Given the description of an element on the screen output the (x, y) to click on. 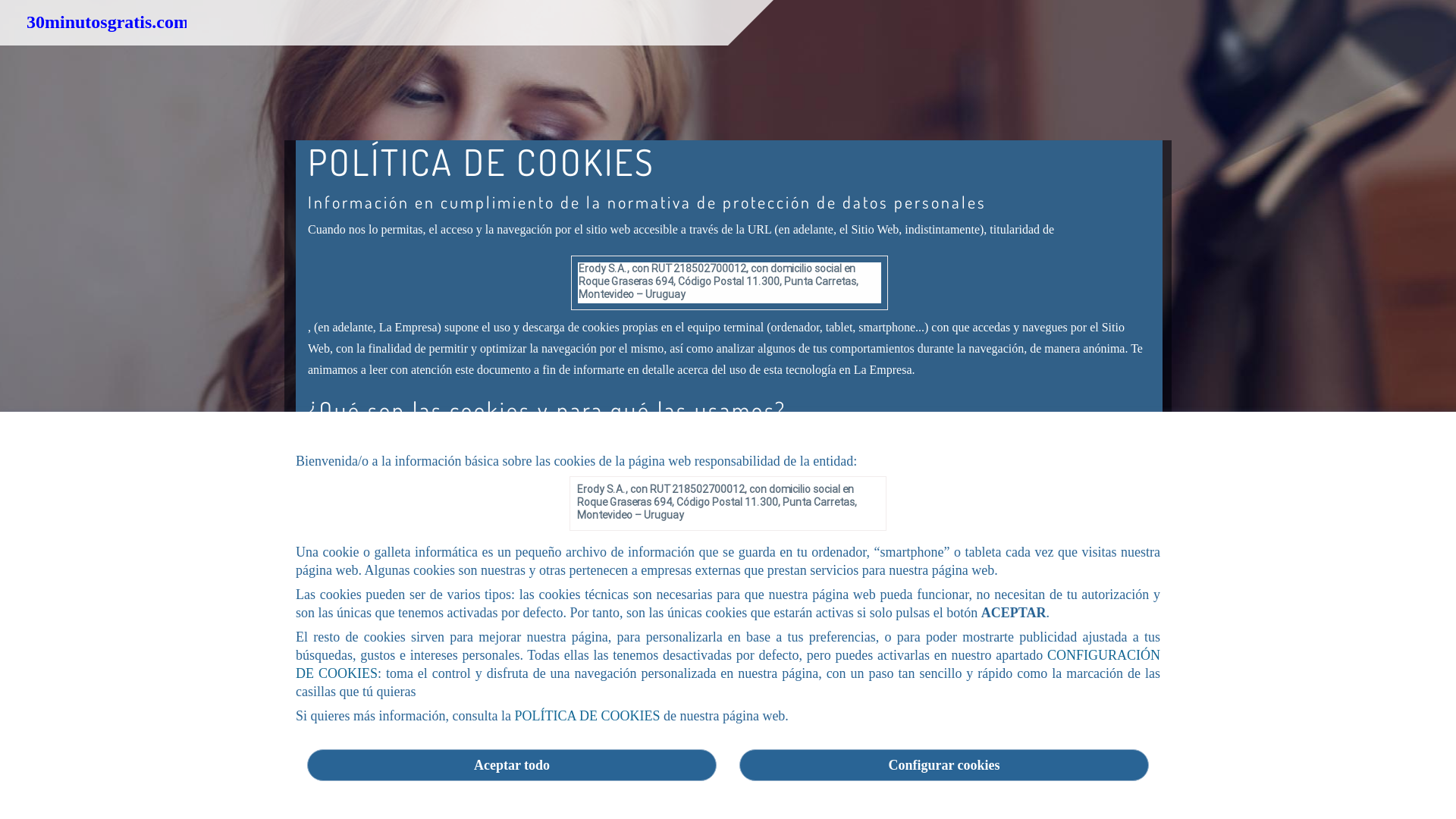
30minutosgratis.com Element type: text (449, 797)
Aceptar todo Element type: text (511, 765)
30minutosgratis.com Element type: text (107, 21)
Configurar cookies Element type: text (943, 765)
Aviso legal Element type: text (781, 797)
